Given the description of an element on the screen output the (x, y) to click on. 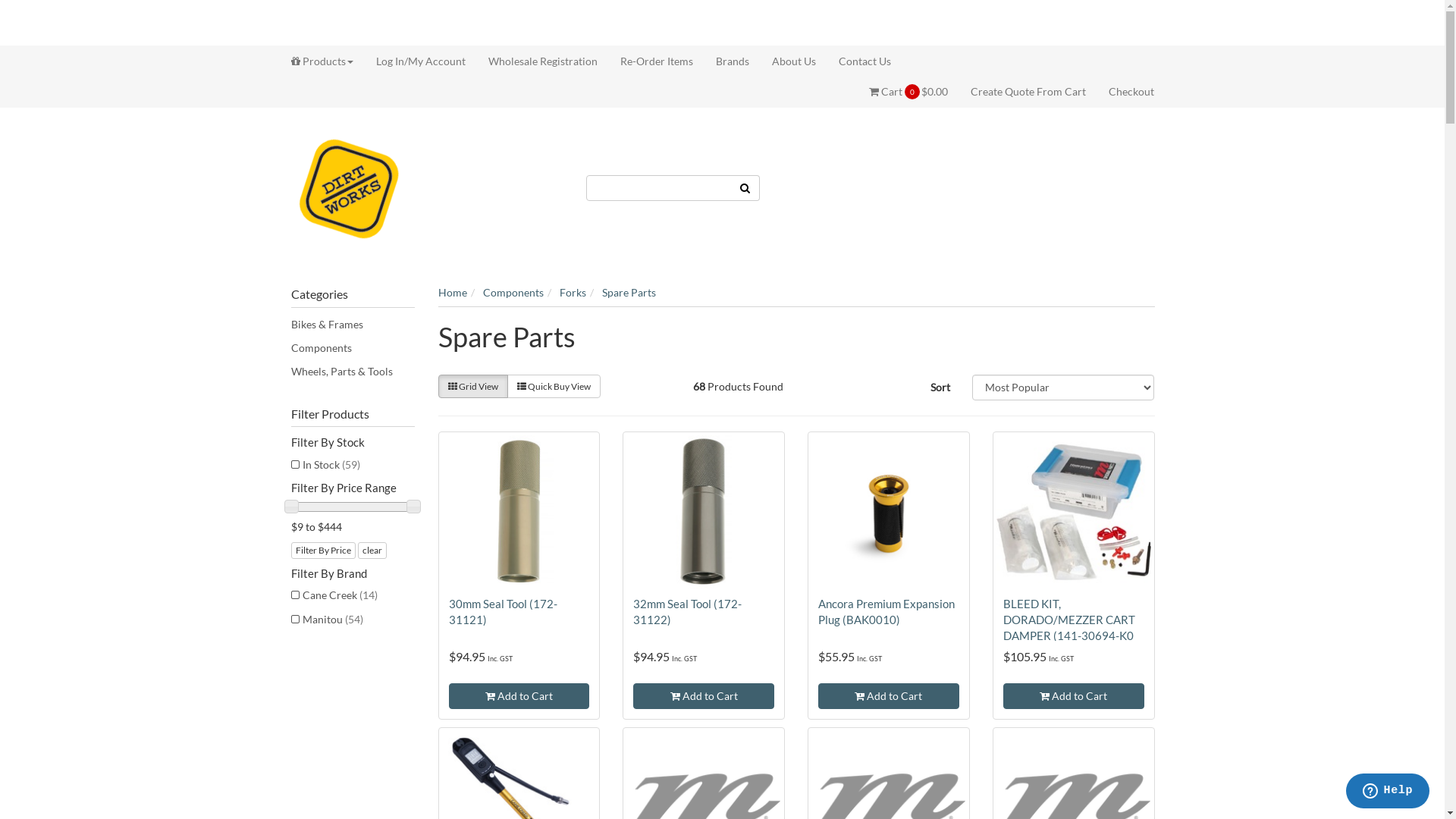
Grid View Element type: text (473, 386)
clear Element type: text (371, 550)
Spare Parts Element type: text (628, 291)
Ancora Premium Expansion Plug (BAK0010) Element type: text (886, 611)
Search Element type: text (745, 187)
Add to Cart Element type: text (518, 696)
Wholesale Registration Element type: text (542, 61)
Create Quote From Cart Element type: text (1027, 91)
Add to Cart Element type: text (888, 696)
About Us Element type: text (792, 61)
Dirt Works Australia Element type: hover (348, 185)
Re-Order Items Element type: text (655, 61)
Filter Products Element type: text (352, 413)
In Stock (59) Element type: text (352, 464)
Wheels, Parts & Tools Element type: text (352, 371)
Cane Creek (14) Element type: text (352, 595)
Cart 0 $0.00 Element type: text (914, 91)
Bikes & Frames Element type: text (352, 324)
Filter By Price Element type: text (323, 550)
BLEED KIT, DORADO/MEZZER CART DAMPER (141-30694-K0 Element type: text (1069, 619)
Opens a widget where you can chat to one of our agents Element type: hover (1387, 792)
Checkout Element type: text (1124, 91)
Components Element type: text (512, 291)
30mm Seal Tool (172-31121) Element type: text (502, 611)
Manitou (54) Element type: text (352, 619)
Products Element type: text (327, 61)
Log In/My Account Element type: text (420, 61)
Home Element type: text (452, 291)
Add to Cart Element type: text (1073, 696)
Forks Element type: text (572, 291)
Contact Us Element type: text (858, 61)
32mm Seal Tool (172-31122) Element type: text (687, 611)
Brands Element type: text (731, 61)
Add to Cart Element type: text (703, 696)
Components Element type: text (352, 347)
Quick Buy View Element type: text (552, 386)
